Given the description of an element on the screen output the (x, y) to click on. 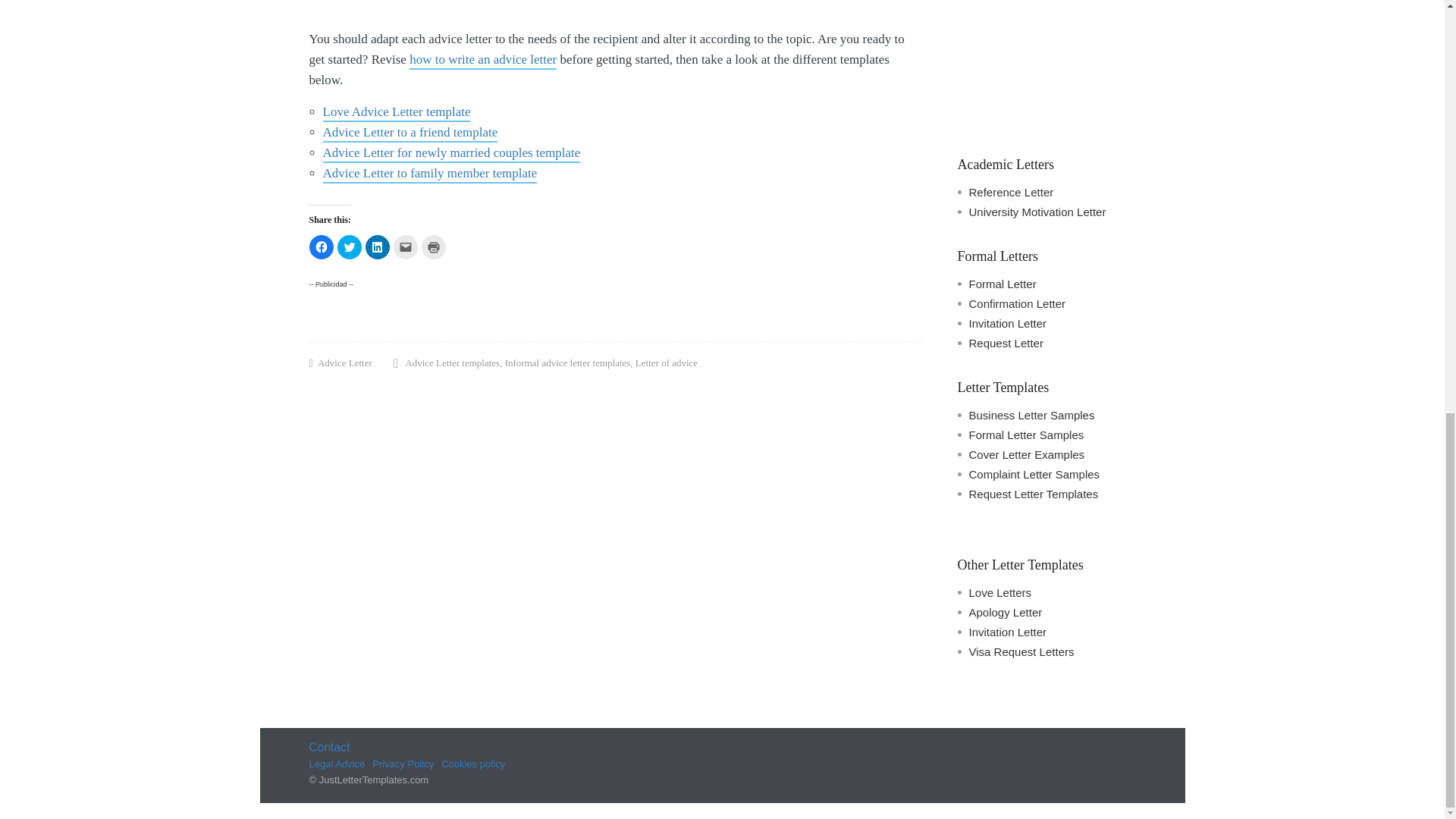
Advice Letter for newly married couples template (451, 153)
Click to print (433, 247)
Advertisement (1045, 63)
Click to share on Twitter (348, 247)
Advice Letter (344, 364)
Click to share on Facebook (320, 247)
Advice Letter to a friend template (410, 133)
how to write an advice letter (482, 60)
Click to share on LinkedIn (377, 247)
Advice Letter to family member template (430, 174)
Click to email a link to a friend (404, 247)
Love Advice Letter template (396, 113)
